Given the description of an element on the screen output the (x, y) to click on. 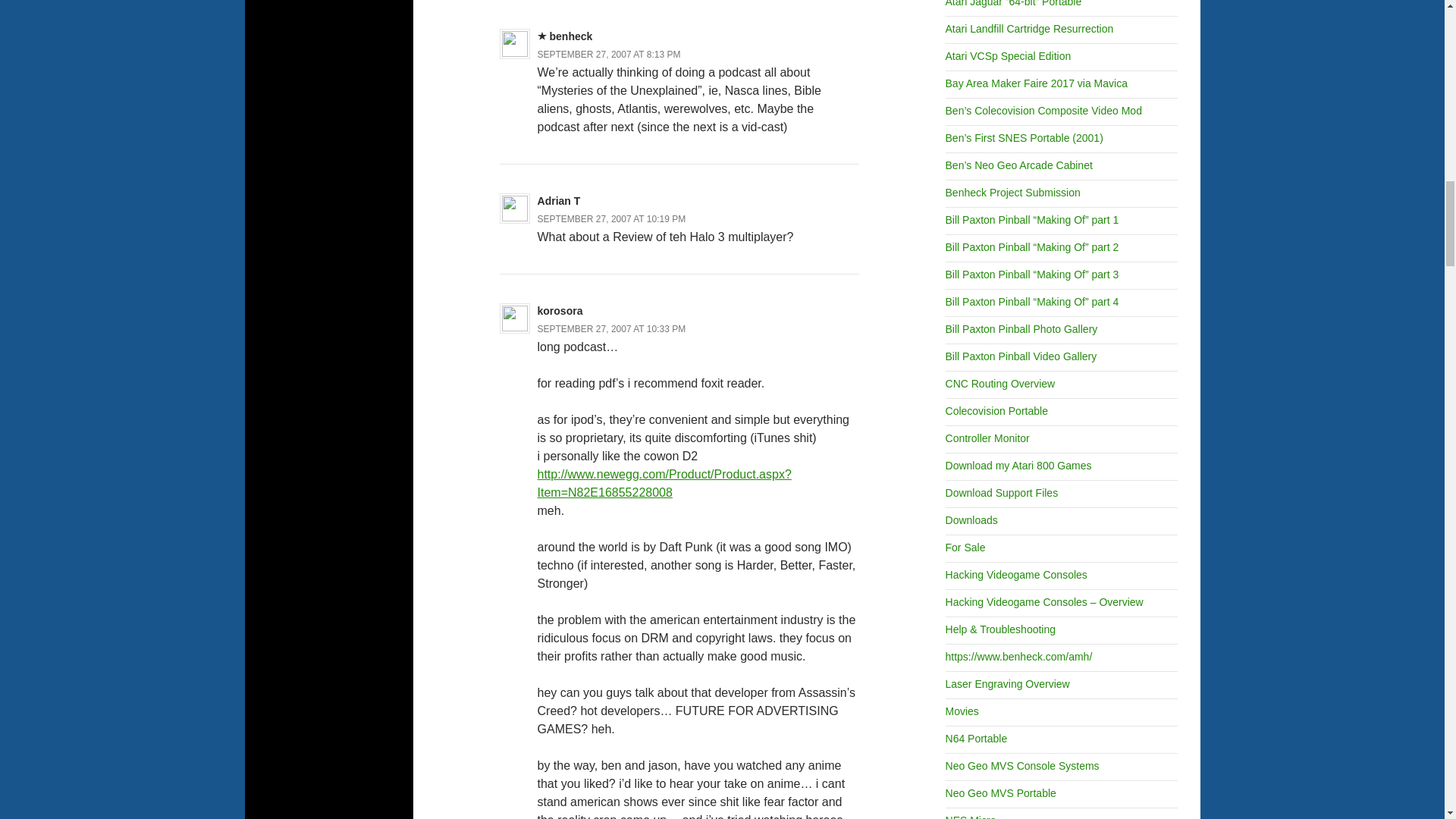
benheck (571, 36)
SEPTEMBER 27, 2007 AT 10:33 PM (611, 328)
SEPTEMBER 27, 2007 AT 10:19 PM (611, 218)
SEPTEMBER 27, 2007 AT 8:13 PM (609, 54)
